Given the description of an element on the screen output the (x, y) to click on. 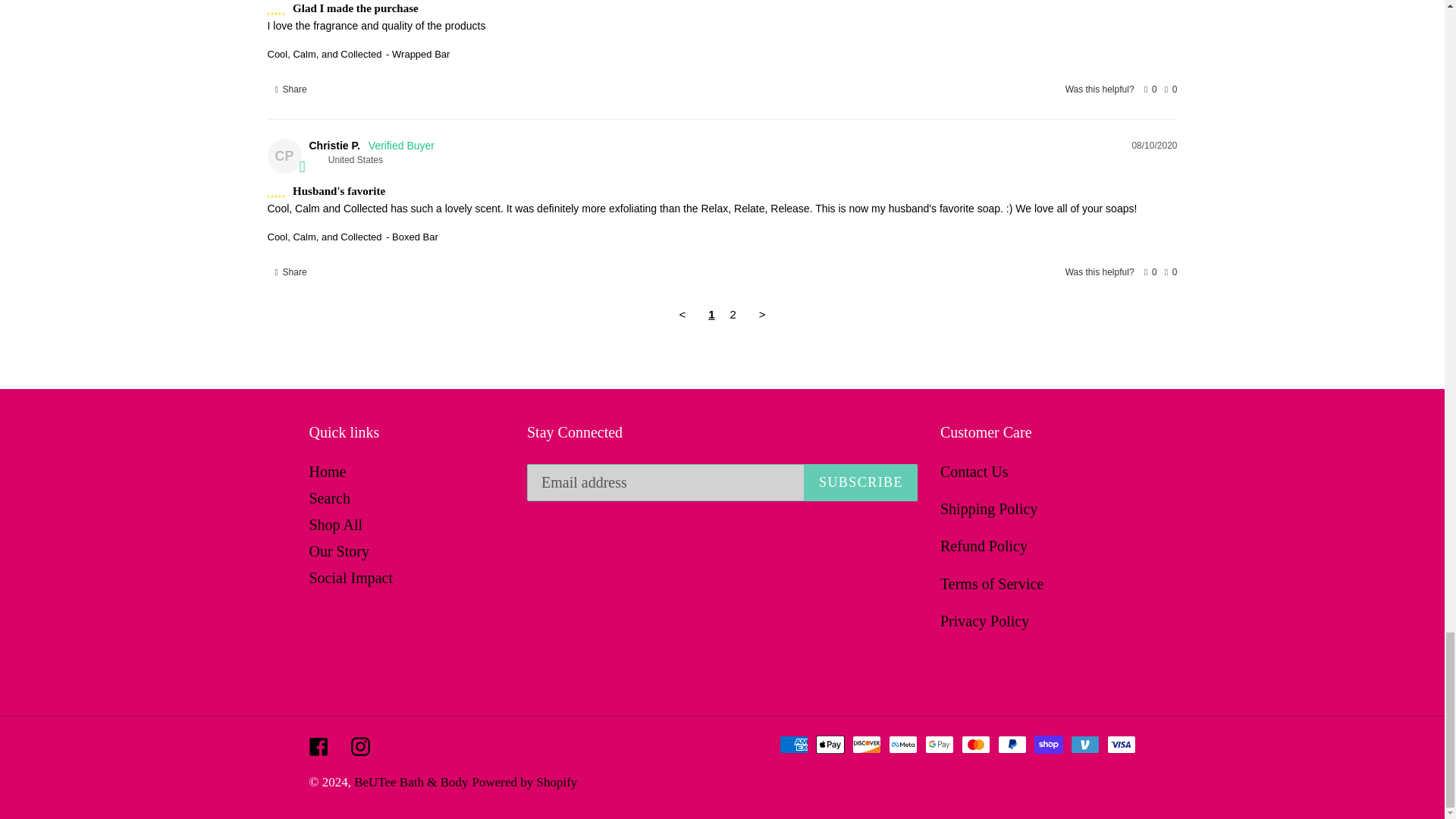
Privacy Policy (984, 620)
CONTACT US (973, 471)
Refund Policy (983, 545)
Terms of Service (991, 583)
Shipping Policy (988, 508)
